Given the description of an element on the screen output the (x, y) to click on. 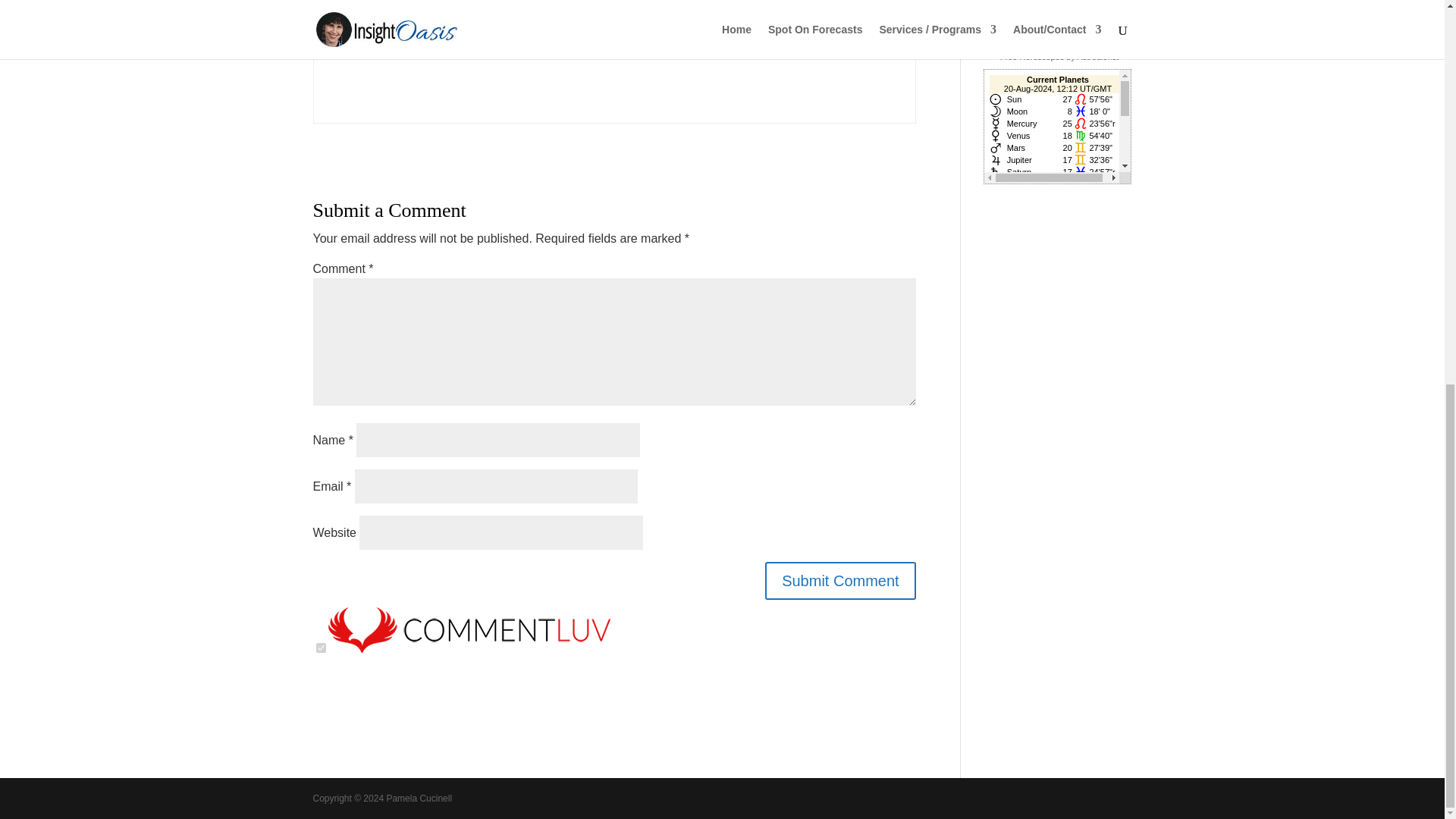
Submit Comment (840, 580)
on (319, 647)
Submit Comment (840, 580)
Free Horoscopes by Astrodienst (1059, 56)
Lakshmi, Venus and the New Moon (1046, 10)
